Given the description of an element on the screen output the (x, y) to click on. 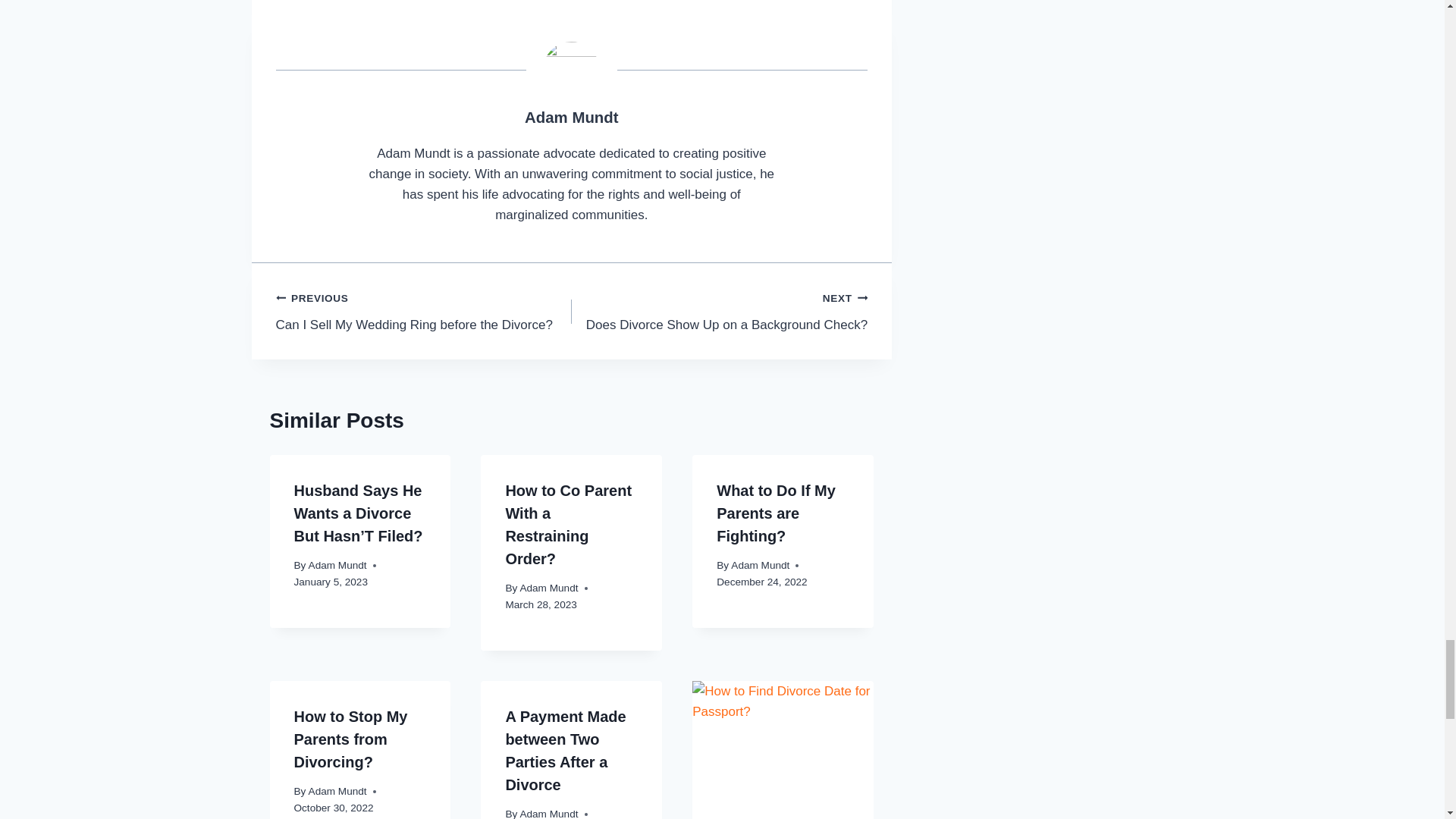
How to Co Parent With a Restraining Order? (568, 524)
Adam Mundt (337, 564)
What to Do If My Parents are Fighting? (424, 310)
Posts by Adam Mundt (775, 513)
Adam Mundt (570, 117)
Adam Mundt (548, 587)
